Given the description of an element on the screen output the (x, y) to click on. 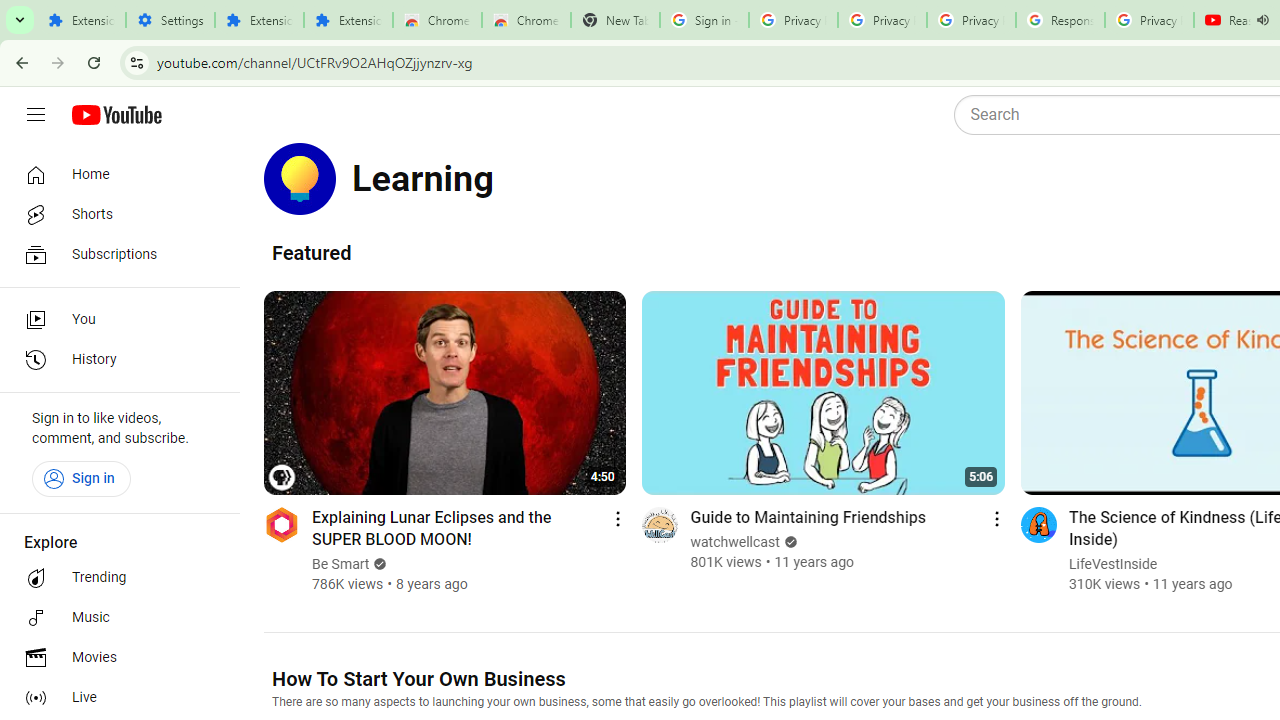
Be Smart (341, 564)
Music (113, 617)
Verified (788, 542)
Movies (113, 657)
Trending (113, 578)
Mute tab (1262, 20)
